Given the description of an element on the screen output the (x, y) to click on. 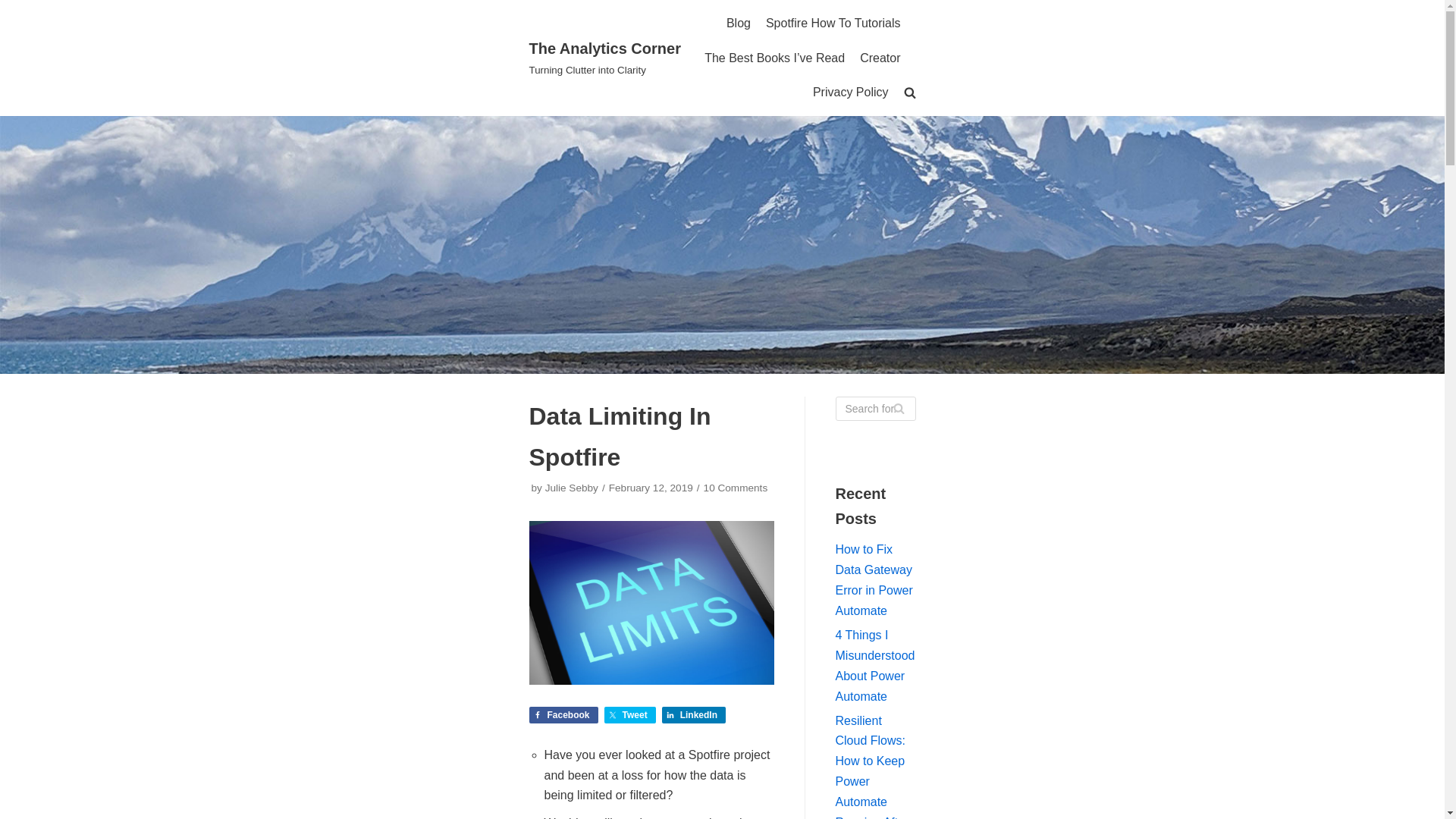
Tweet (630, 714)
LinkedIn (693, 714)
Share on Facebook (563, 714)
Share on LinkedIn (693, 714)
Skip to content (15, 7)
Spotfire How To Tutorials (833, 23)
Blog (738, 23)
Privacy Policy (850, 92)
10 Comments (735, 487)
Facebook (563, 714)
